Given the description of an element on the screen output the (x, y) to click on. 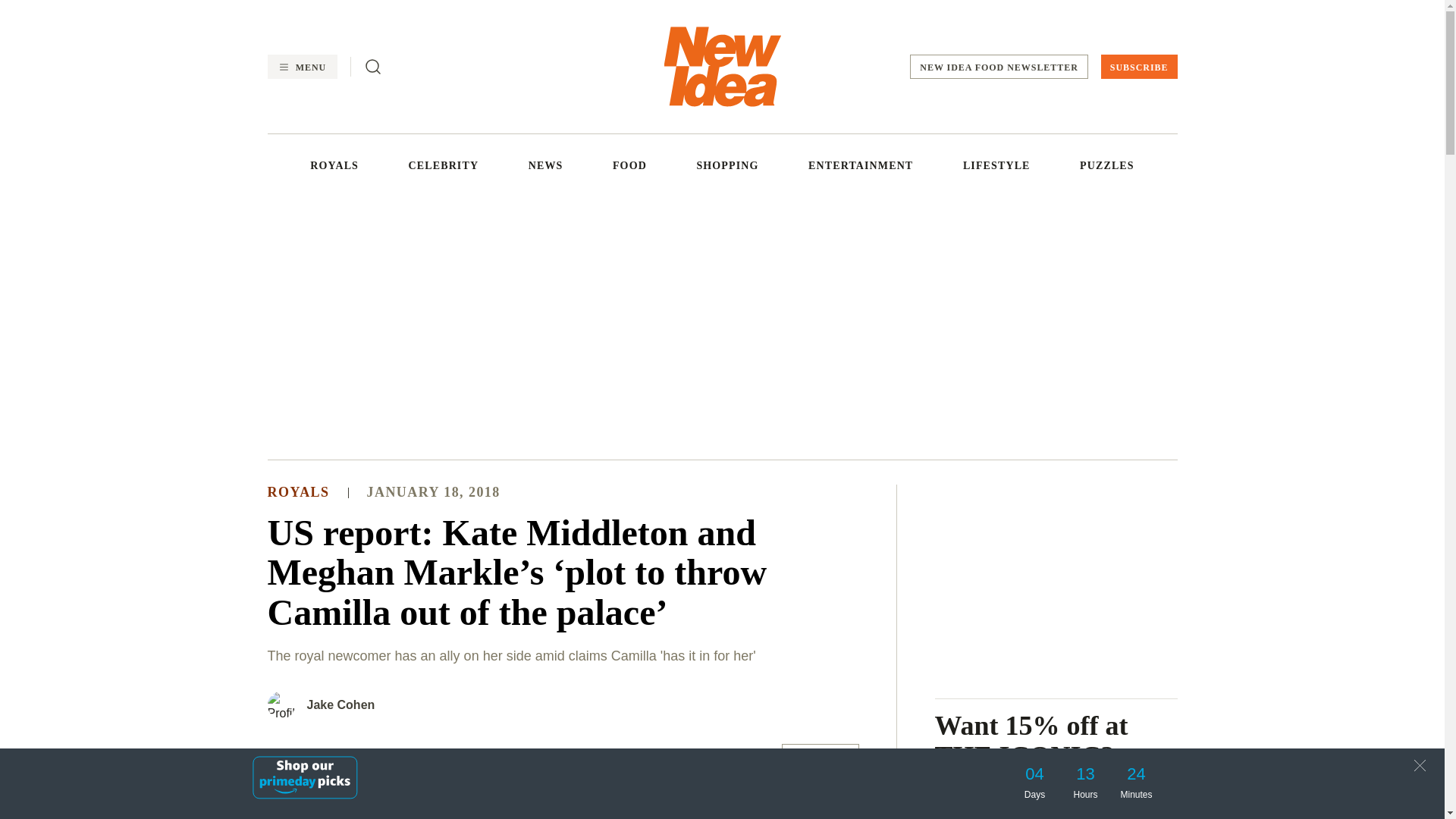
ROYALS (334, 165)
ENTERTAINMENT (860, 165)
NEW IDEA FOOD NEWSLETTER (998, 66)
CELEBRITY (444, 165)
SUBSCRIBE (1138, 66)
3rd party ad content (721, 325)
3rd party ad content (1055, 579)
NEWS (545, 165)
MENU (301, 66)
SHOPPING (726, 165)
PUZZLES (1107, 165)
LIFESTYLE (996, 165)
FOOD (629, 165)
